Given the description of an element on the screen output the (x, y) to click on. 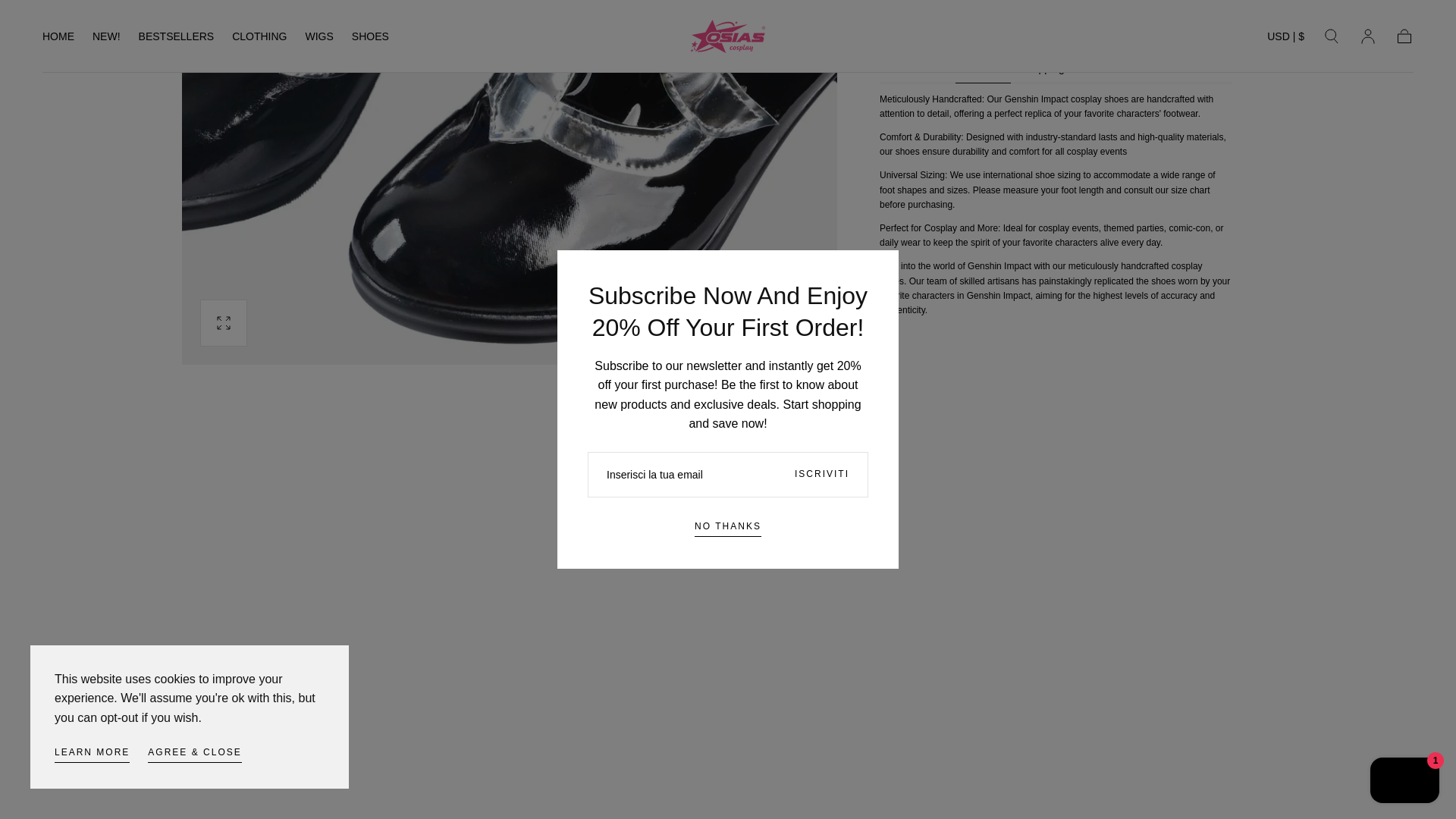
Chat negozio online di Shopify (1404, 56)
LEARN MORE (92, 29)
